Given the description of an element on the screen output the (x, y) to click on. 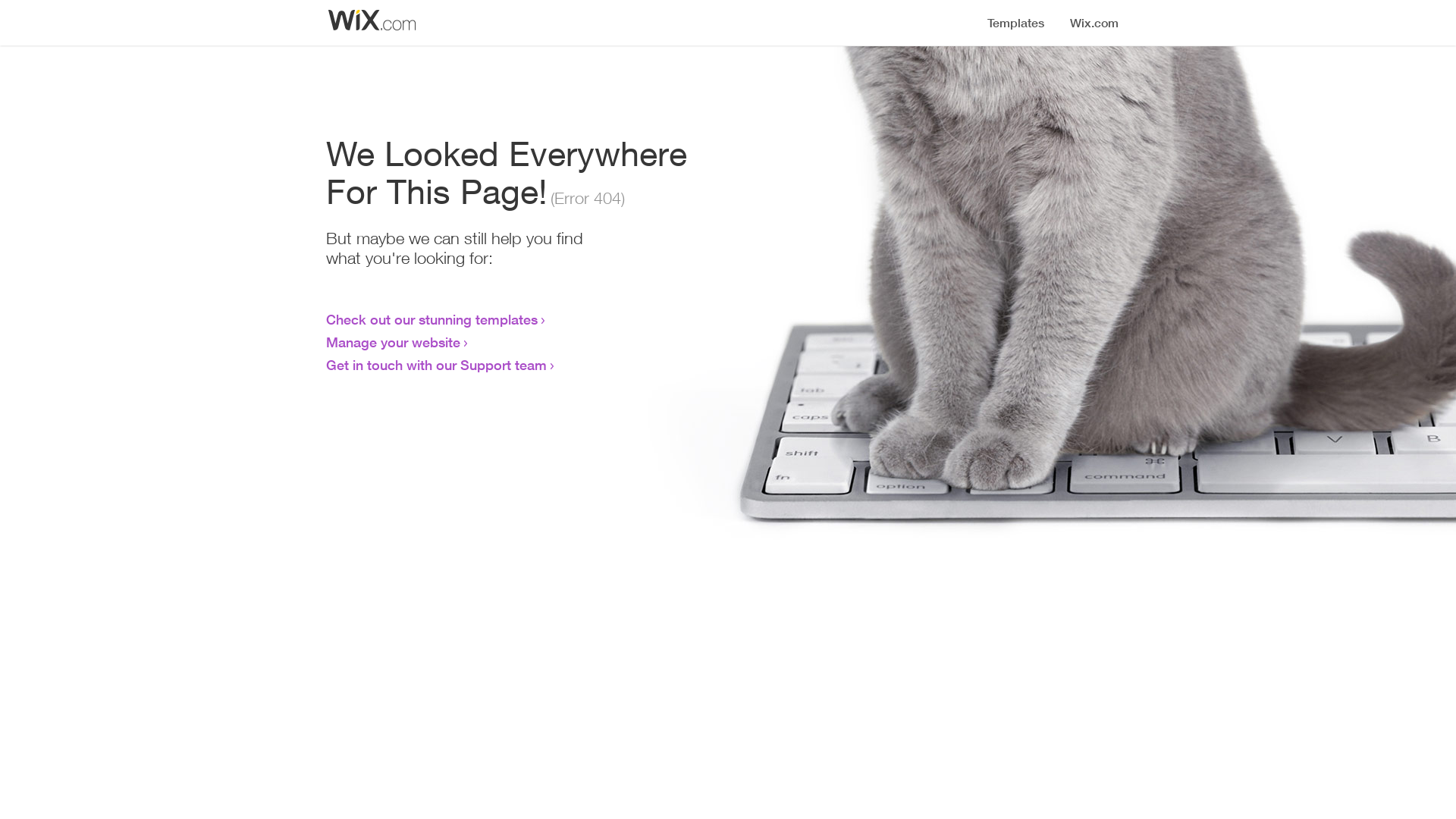
Check out our stunning templates Element type: text (431, 318)
Manage your website Element type: text (393, 341)
Get in touch with our Support team Element type: text (436, 364)
